Given the description of an element on the screen output the (x, y) to click on. 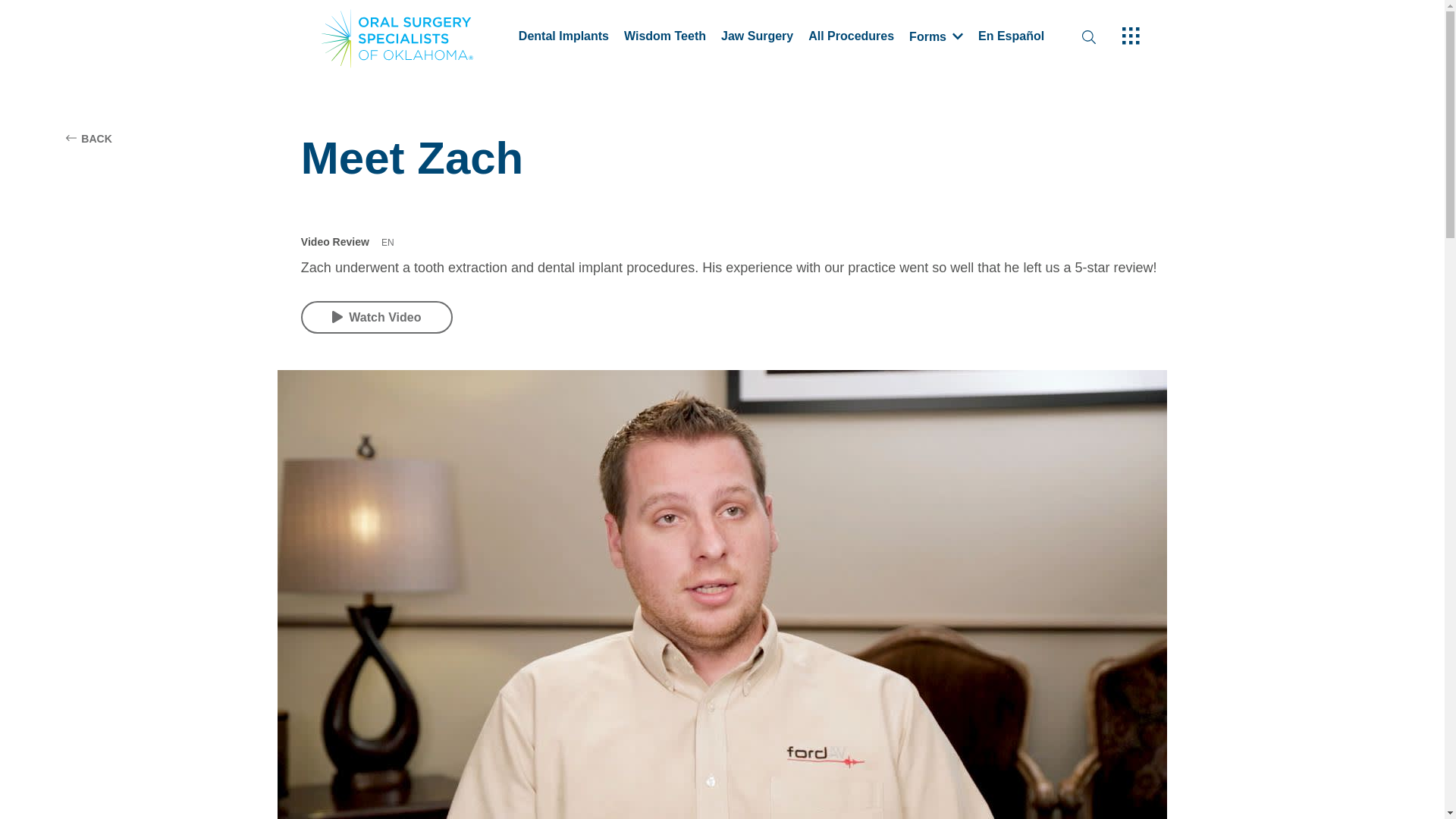
Learn more about dental implant options (563, 37)
Forms (935, 37)
Learn more about wisdom teeth removal (665, 37)
All Procedures (850, 37)
View all of our procedures (850, 37)
Jaw Surgery (756, 37)
Wisdom Teeth (665, 37)
Return to Homepage (412, 37)
Dental Implants (563, 37)
Learn more about jaw surgery (756, 37)
